Given the description of an element on the screen output the (x, y) to click on. 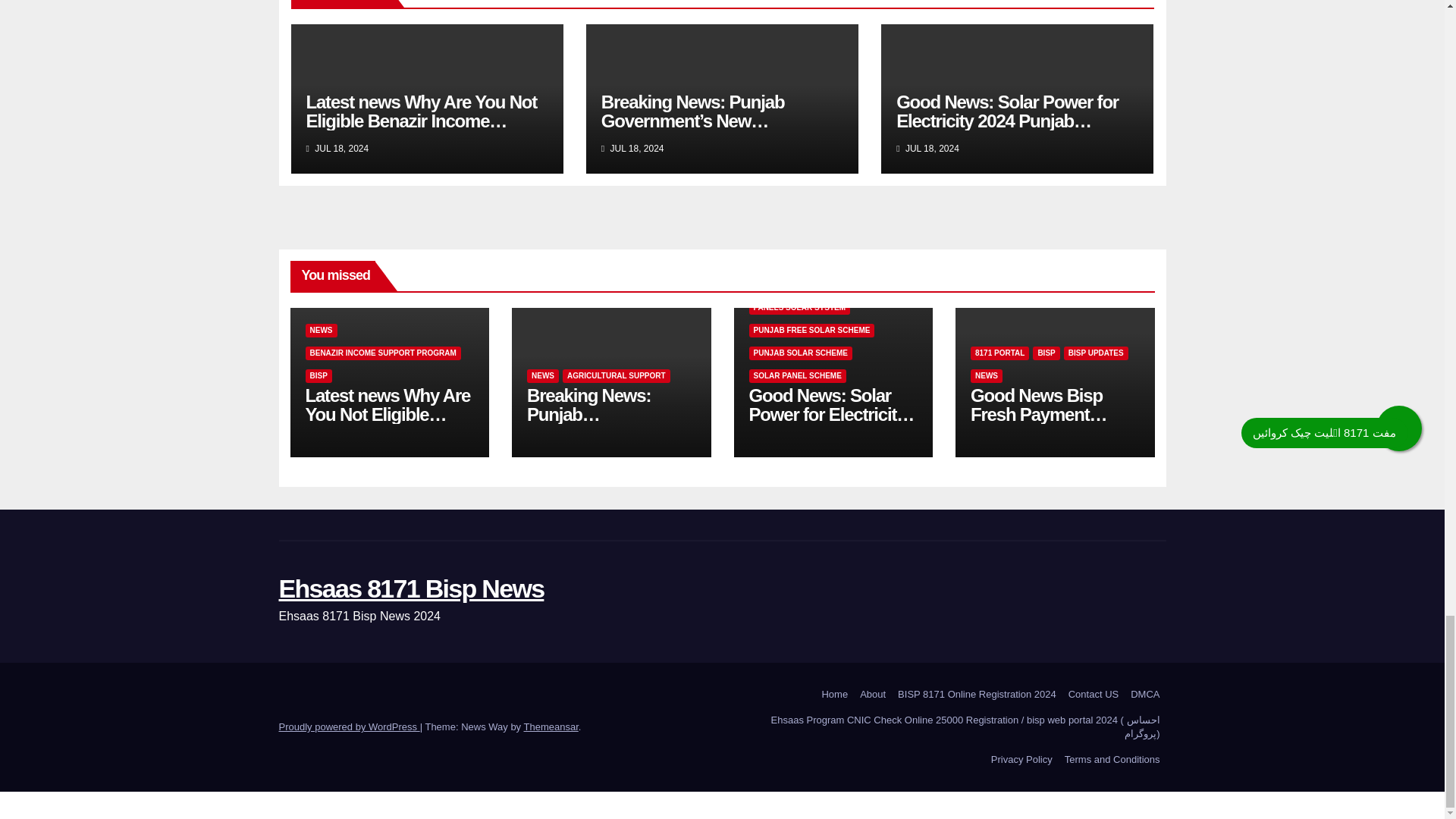
NEWS (320, 330)
